Given the description of an element on the screen output the (x, y) to click on. 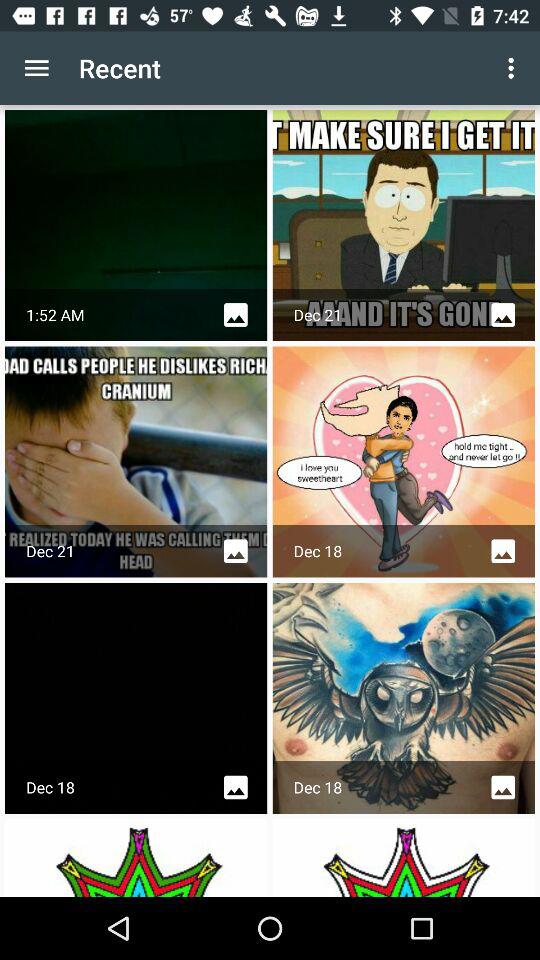
choose icon to the left of recent item (36, 68)
